Given the description of an element on the screen output the (x, y) to click on. 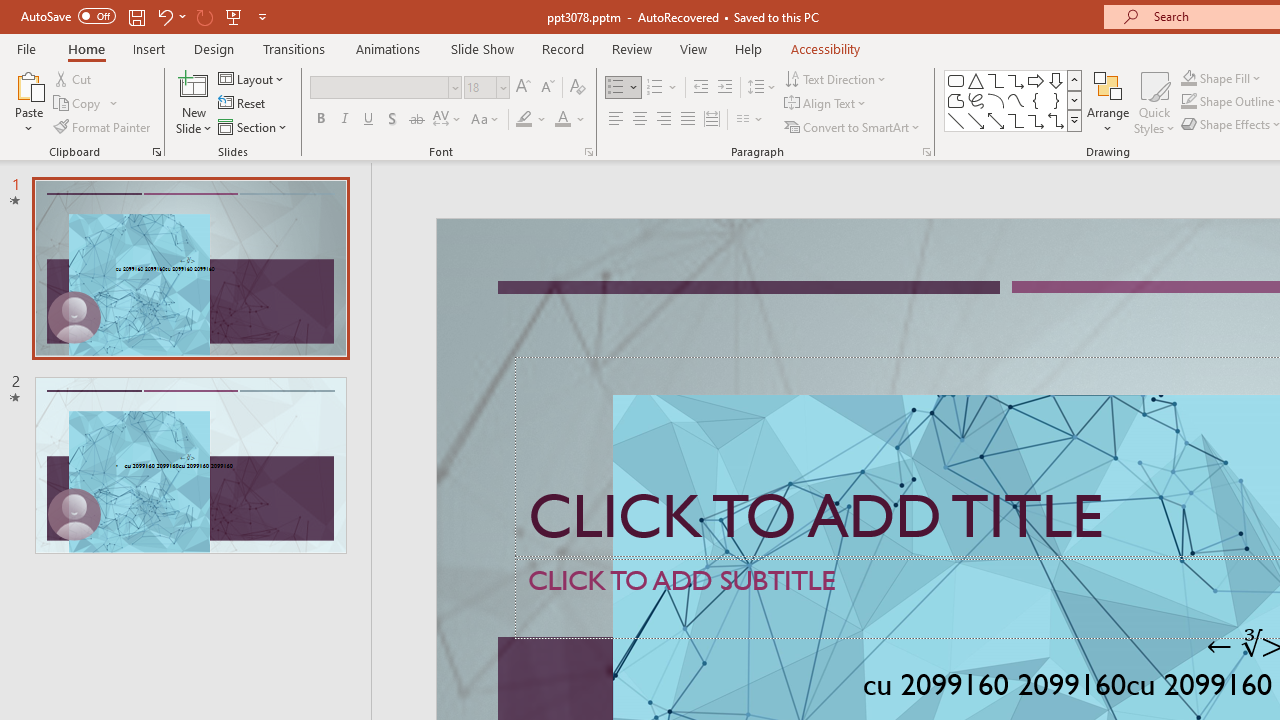
AutomationID: ShapesInsertGallery (1014, 100)
Line Arrow (975, 120)
Font (379, 87)
Line Arrow: Double (995, 120)
Numbering (661, 87)
Justify (687, 119)
Decrease Indent (700, 87)
Quick Styles (1154, 102)
Paragraph... (926, 151)
Underline (369, 119)
Change Case (486, 119)
